Given the description of an element on the screen output the (x, y) to click on. 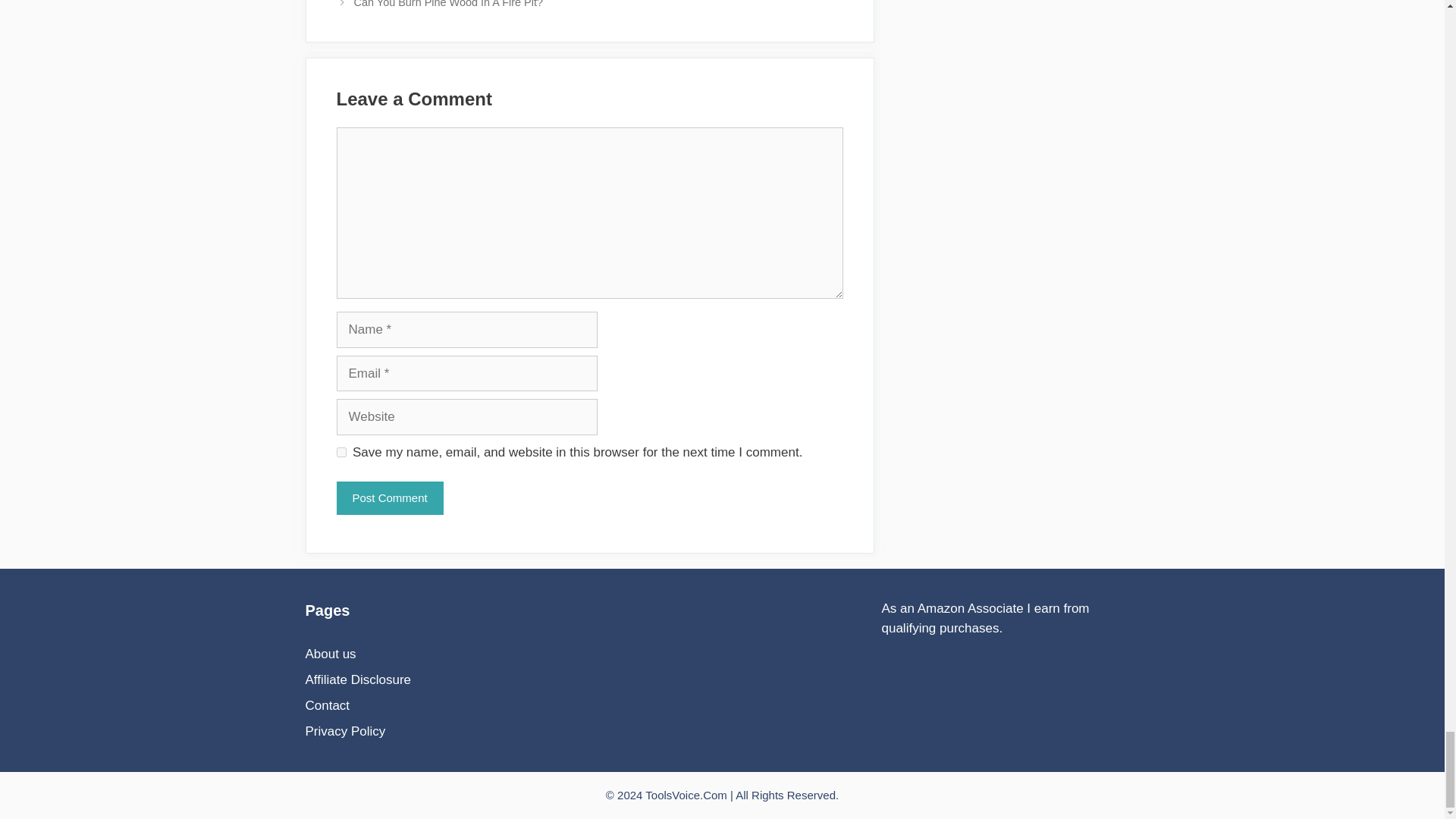
Privacy Policy (344, 730)
yes (341, 452)
Post Comment (390, 498)
Affiliate Disclosure (357, 679)
Post Comment (390, 498)
Can You Burn Pine Wood In A Fire Pit? (448, 4)
Contact (326, 705)
About us (329, 653)
